Given the description of an element on the screen output the (x, y) to click on. 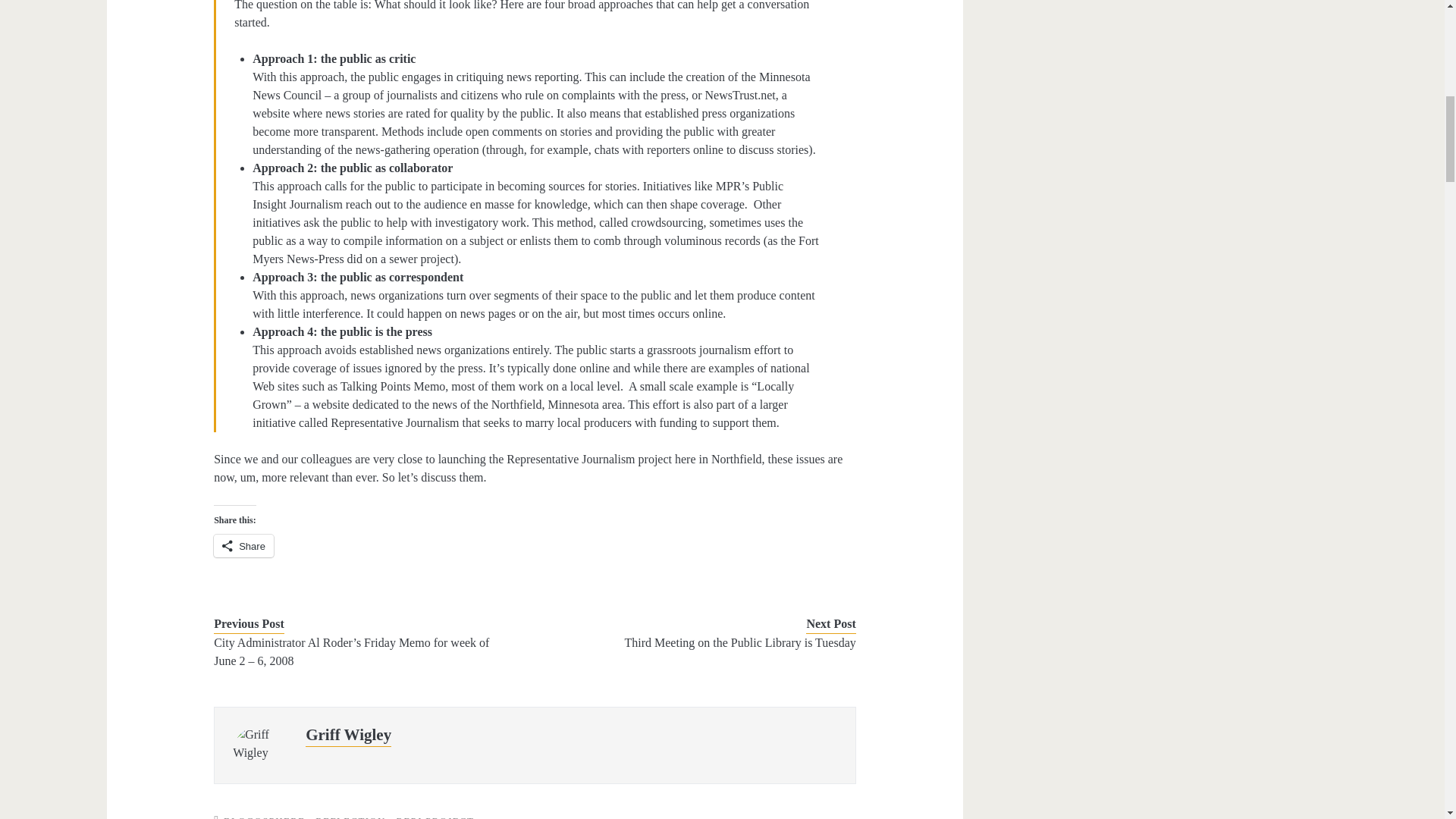
REFLECTION (350, 816)
View all posts in Reflection (350, 816)
Third Meeting on the Public Library is Tuesday (708, 642)
Griff Wigley (348, 734)
BLOGOSPHERE (264, 816)
REPJ PROJECT (435, 816)
View all posts in RepJ Project (435, 816)
View all posts in Blogosphere (264, 816)
Share (243, 545)
